Given the description of an element on the screen output the (x, y) to click on. 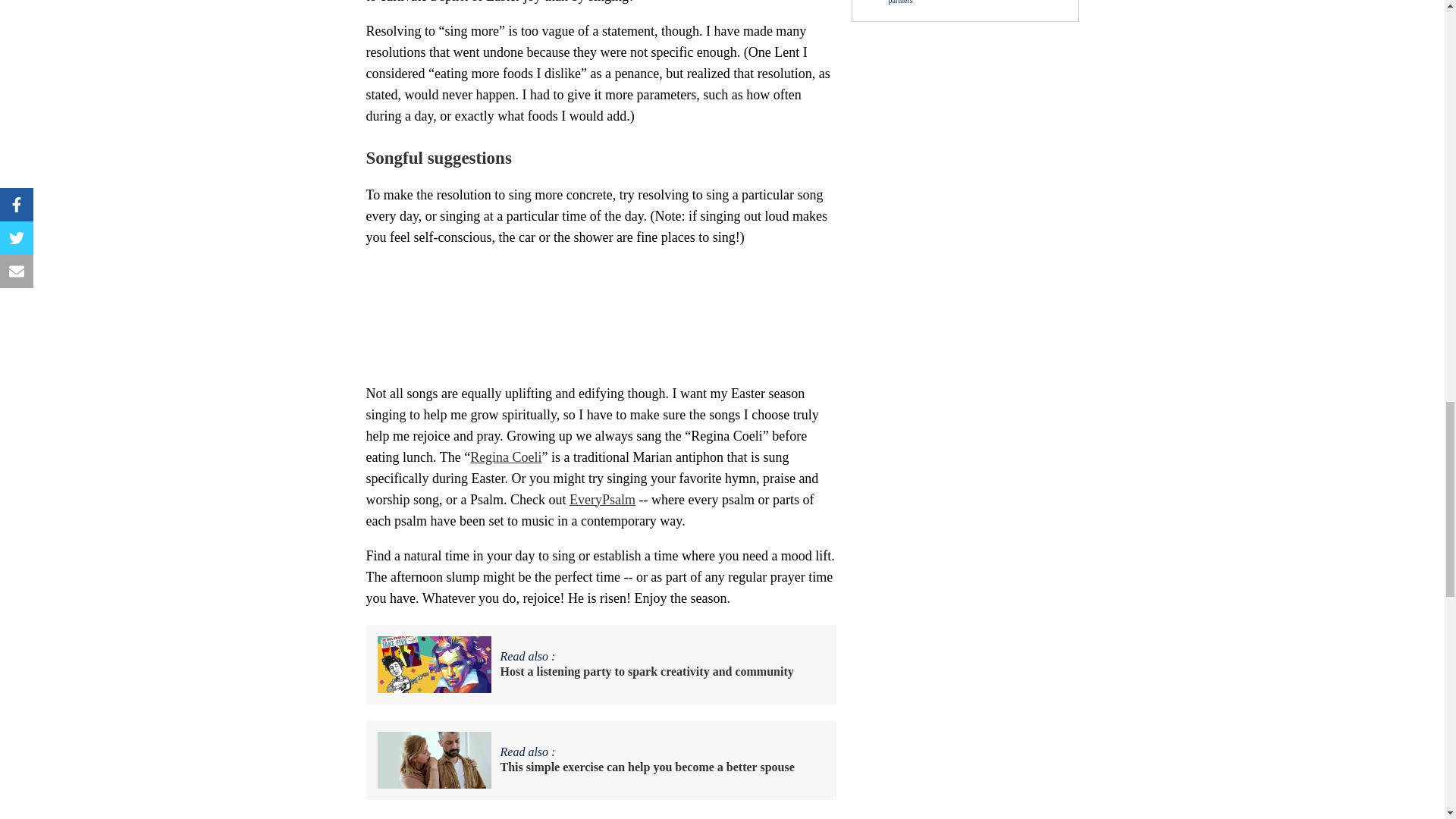
EveryPsalm (601, 499)
Regina Coeli (505, 457)
